Given the description of an element on the screen output the (x, y) to click on. 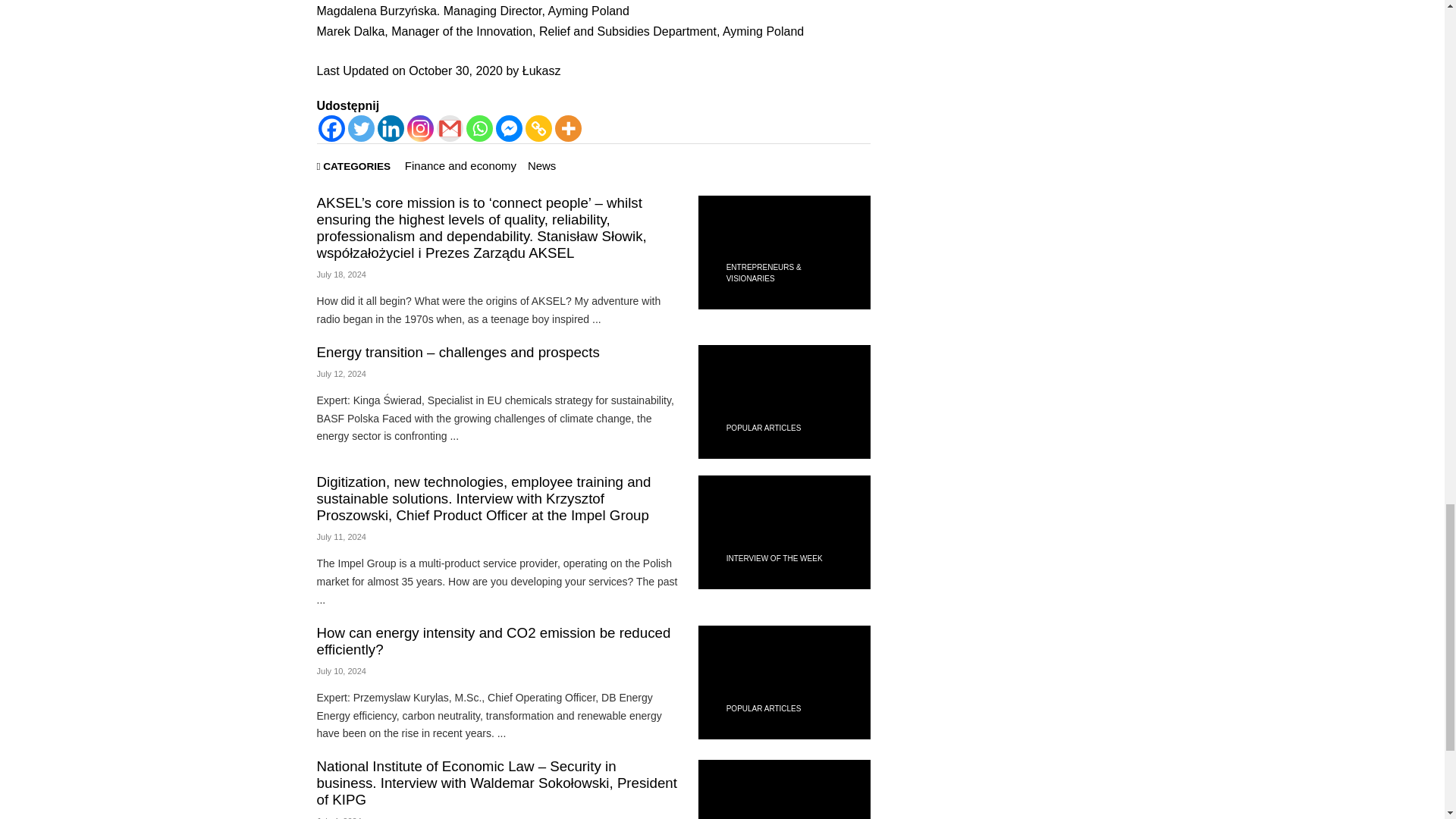
More (567, 128)
Twitter (360, 128)
Whatsapp (478, 128)
Linkedin (390, 128)
Instagram (419, 128)
Popular articles (764, 428)
Copy Link (537, 128)
Facebook (331, 128)
Google Gmail (449, 128)
